Given the description of an element on the screen output the (x, y) to click on. 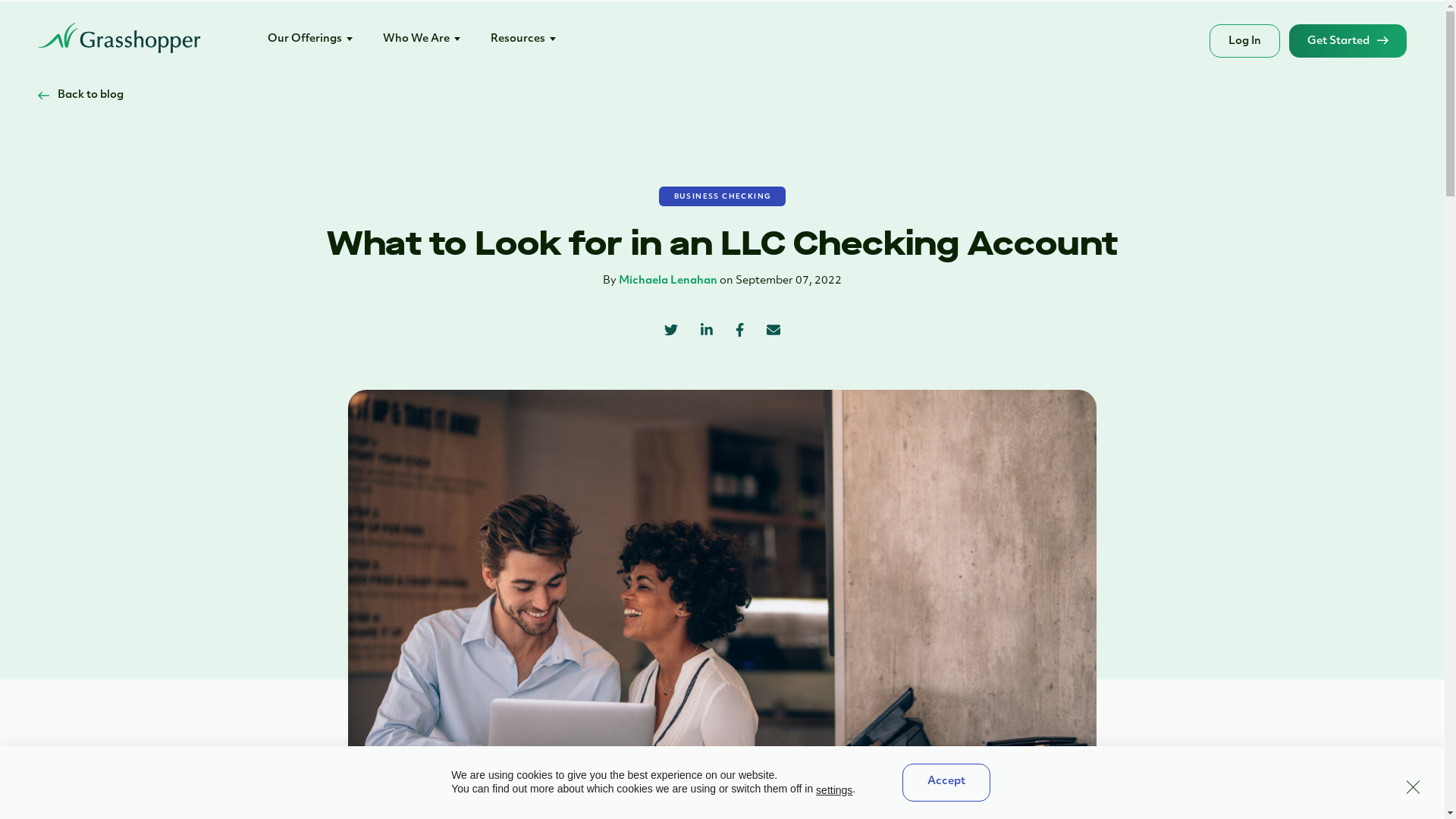
Back to blog Element type: text (80, 95)
Resources Element type: text (522, 38)
Close GDPR Cookie Banner Element type: text (1412, 784)
Our Offerings Element type: text (309, 38)
Get Started Element type: text (1347, 40)
Log In Element type: text (1244, 40)
settings Element type: text (833, 790)
Accept Element type: text (946, 782)
BUSINESS CHECKING Element type: text (722, 196)
Who We Are Element type: text (421, 38)
